Given the description of an element on the screen output the (x, y) to click on. 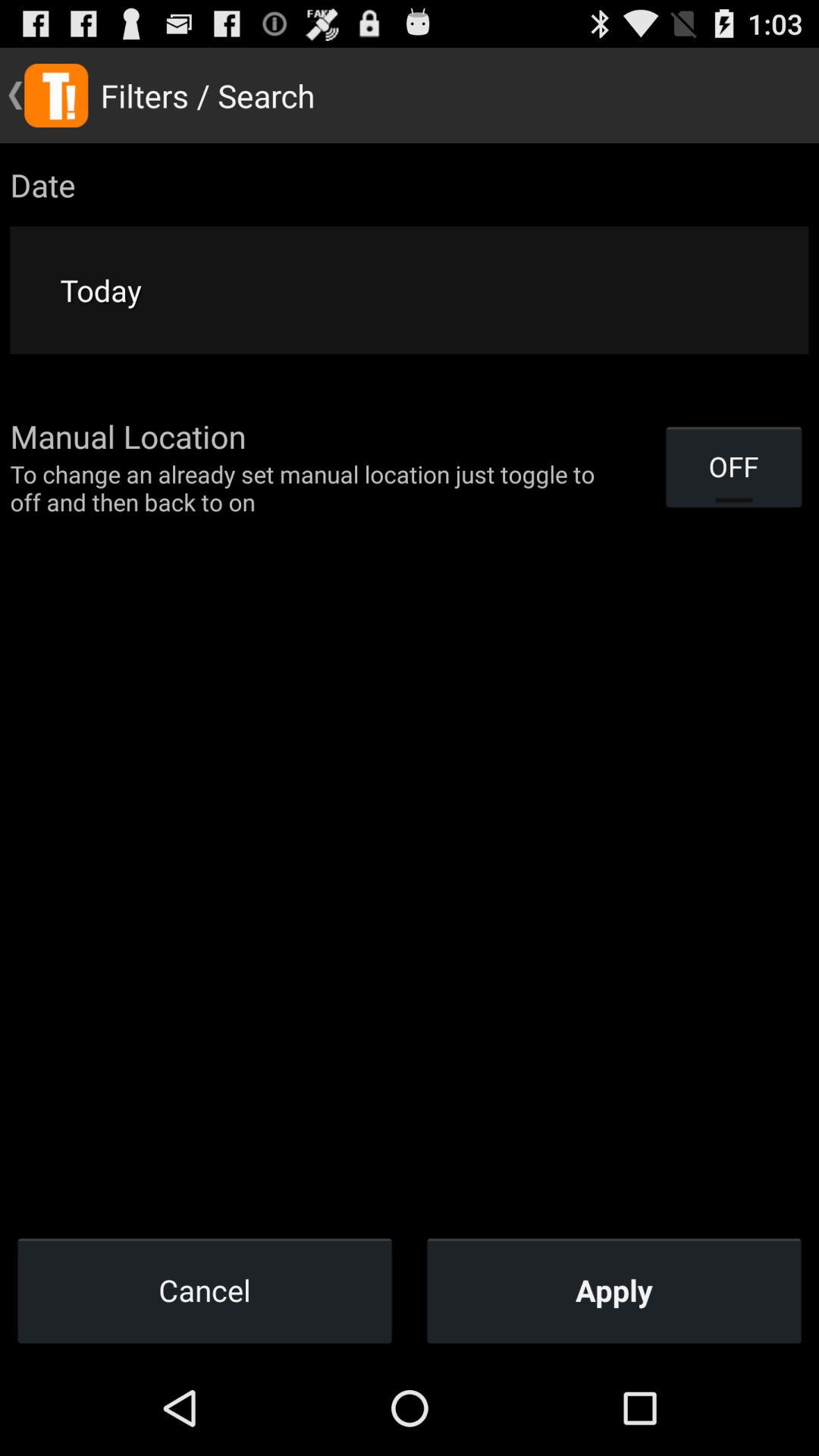
press the icon to the left of the apply icon (204, 1290)
